Given the description of an element on the screen output the (x, y) to click on. 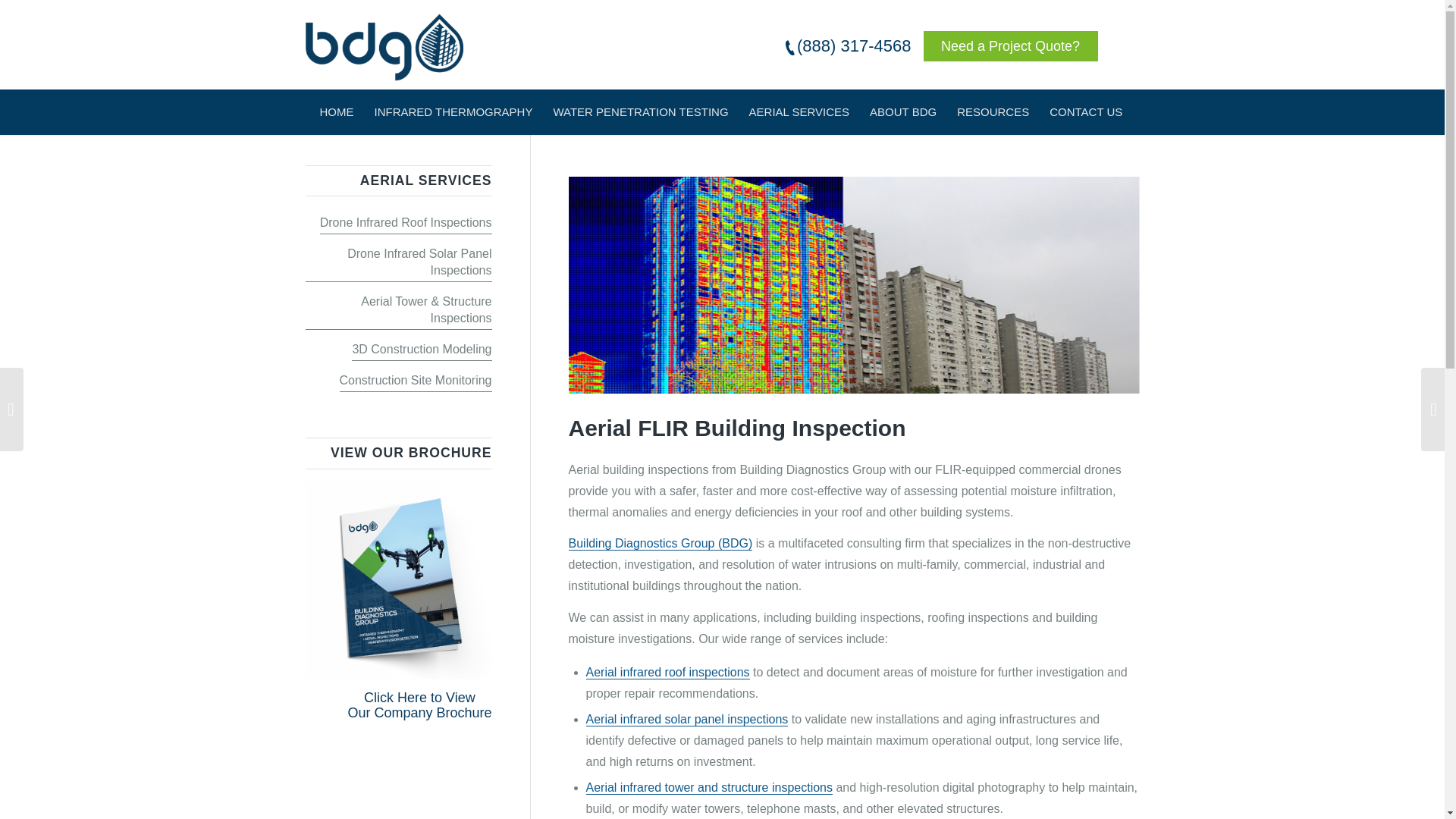
Need a Project Quote? (1010, 46)
INFRARED THERMOGRAPHY (453, 108)
HOME (335, 108)
AERIAL SERVICES (799, 108)
ABOUT BDG (902, 108)
WATER PENETRATION TESTING (639, 108)
